Given the description of an element on the screen output the (x, y) to click on. 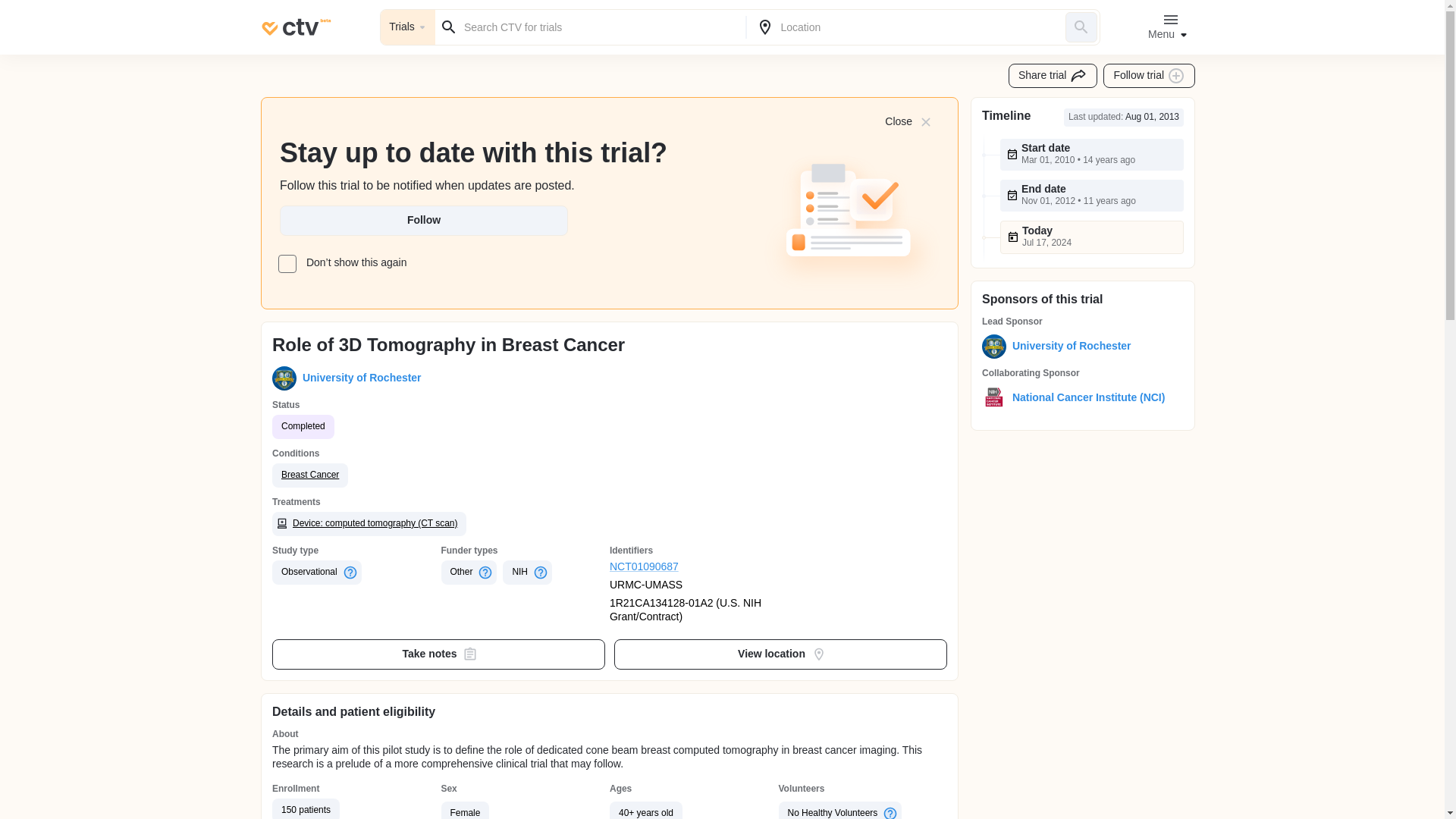
Follow (423, 220)
University of Rochester (358, 377)
View location (780, 654)
Trials (407, 27)
Share trial (1053, 75)
NCT01090687 (694, 567)
University of Rochester (1068, 345)
Follow trial (1149, 75)
Take notes (438, 654)
Close (907, 121)
